Given the description of an element on the screen output the (x, y) to click on. 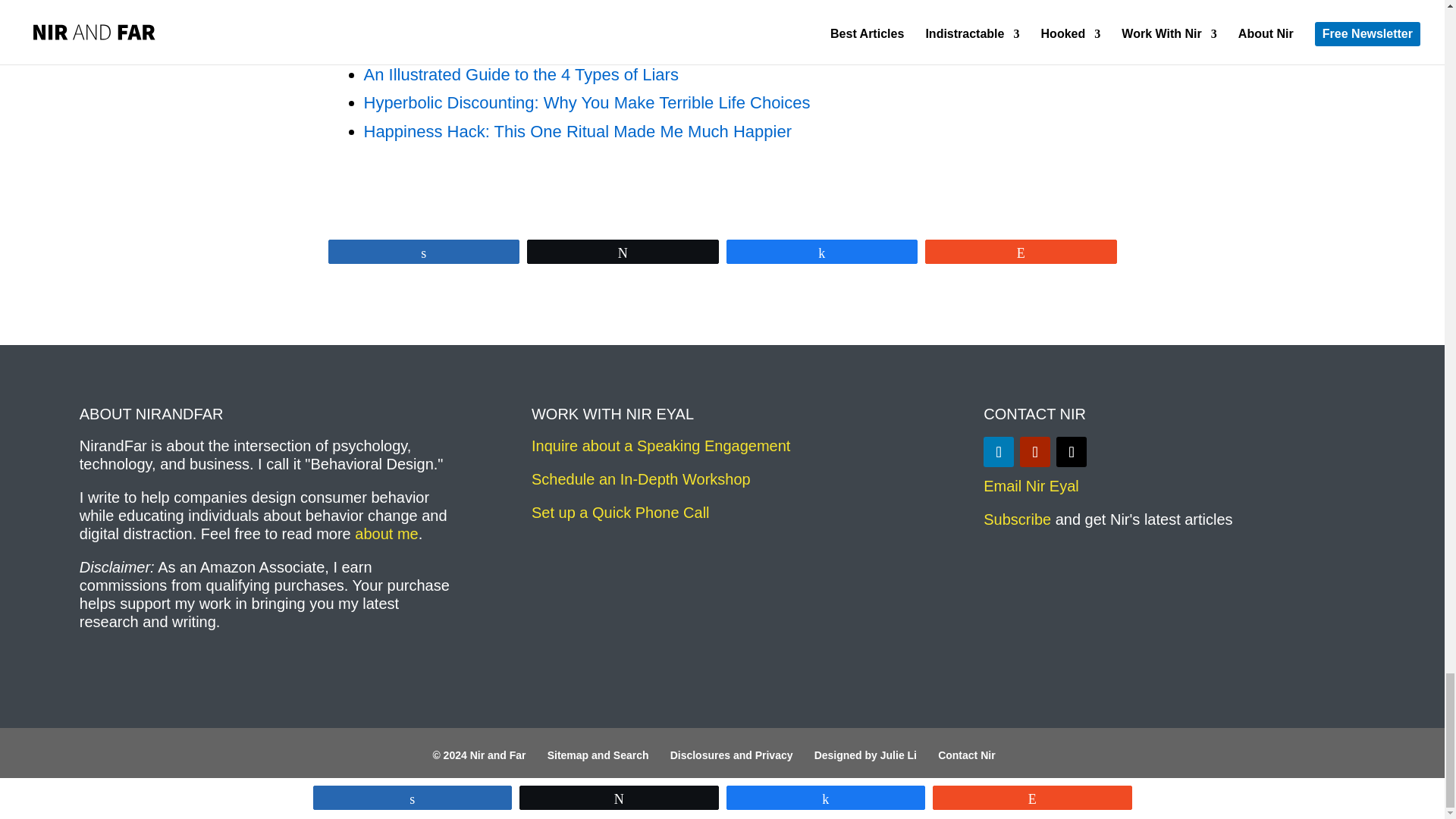
Follow on Youtube (1034, 451)
Follow on LinkedIn (998, 451)
Follow on X (1071, 451)
